Given the description of an element on the screen output the (x, y) to click on. 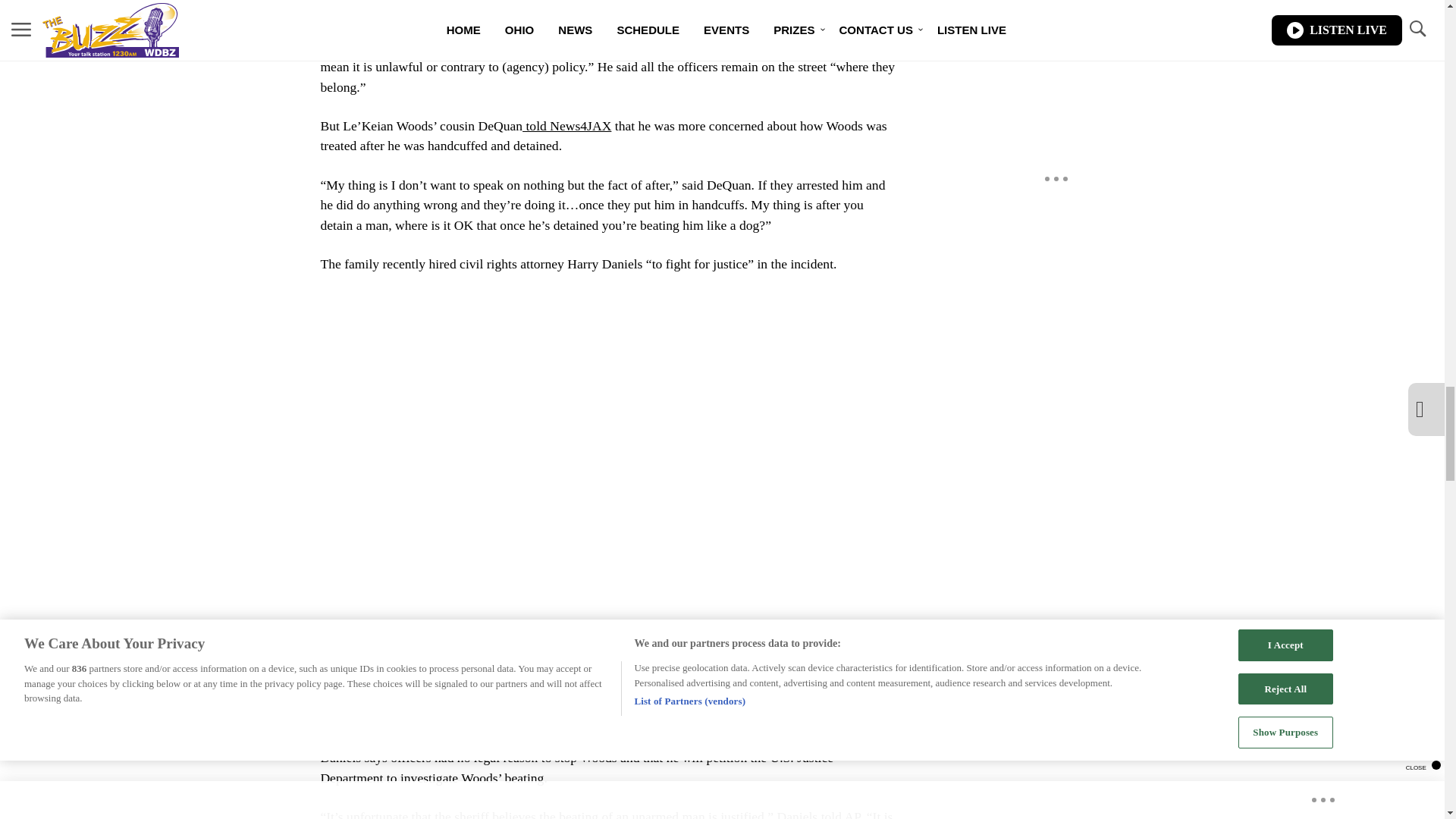
told News4JAX (566, 125)
told AP (840, 814)
